Given the description of an element on the screen output the (x, y) to click on. 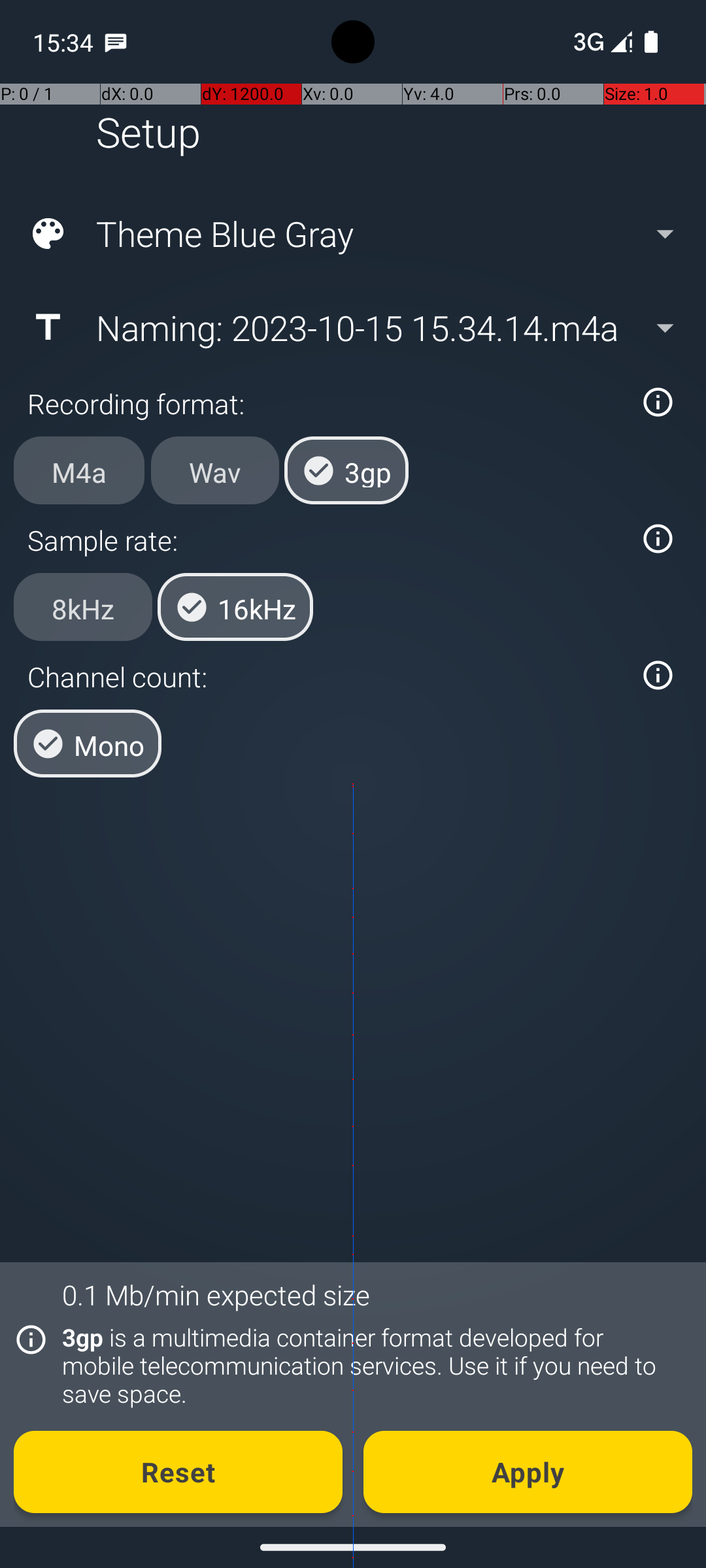
0.1 Mb/min expected size Element type: android.widget.TextView (215, 1294)
3gp is a multimedia container format developed for mobile telecommunication services. Use it if you need to save space. Element type: android.widget.TextView (370, 1364)
Theme Blue Gray Element type: android.widget.TextView (352, 233)
Naming: 2023-10-15 15.34.14.m4a Element type: android.widget.TextView (352, 327)
Phone three bars. Element type: android.widget.FrameLayout (600, 41)
